Given the description of an element on the screen output the (x, y) to click on. 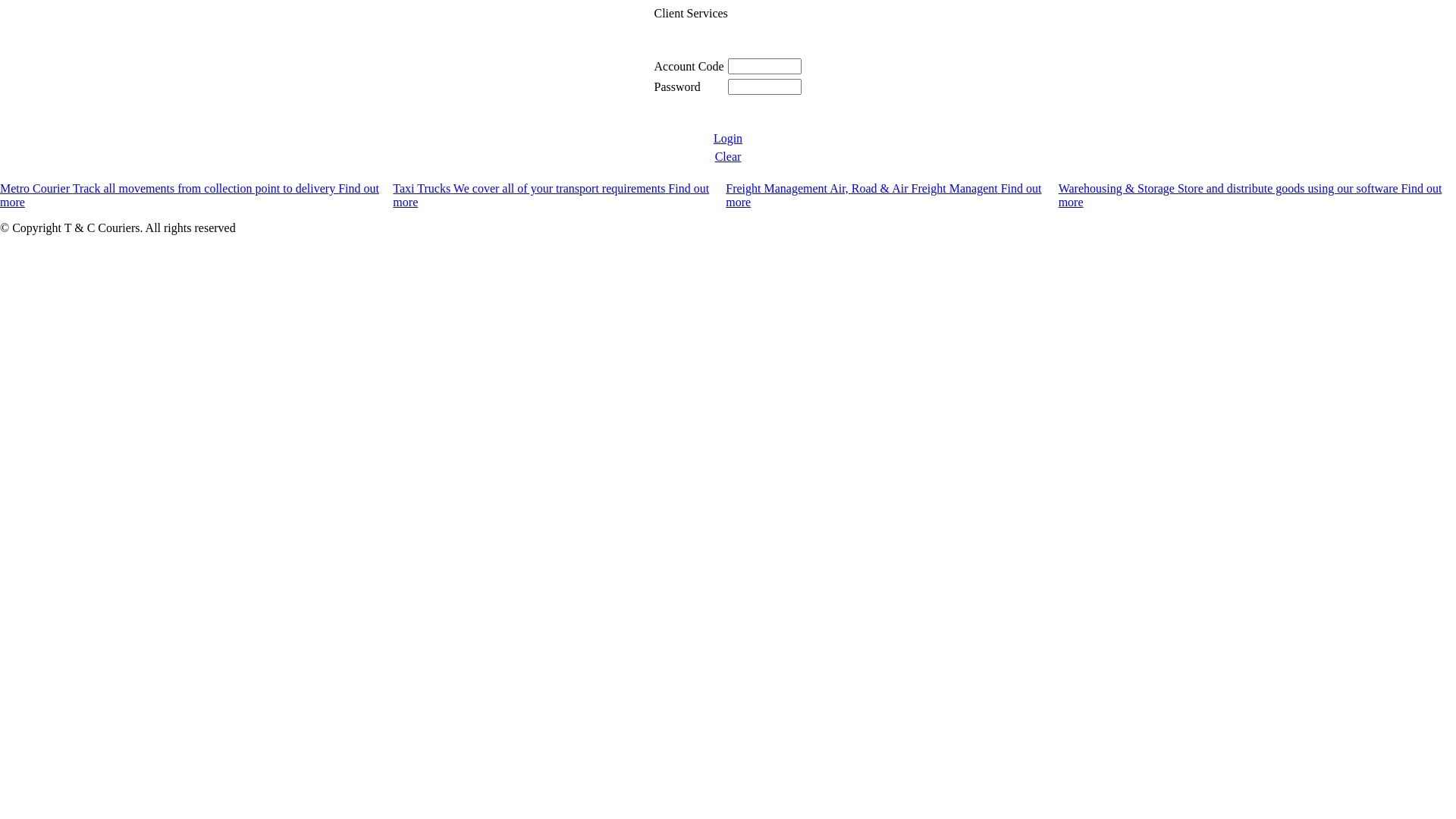
Login Element type: text (727, 137)
Clear Element type: text (728, 156)
